Given the description of an element on the screen output the (x, y) to click on. 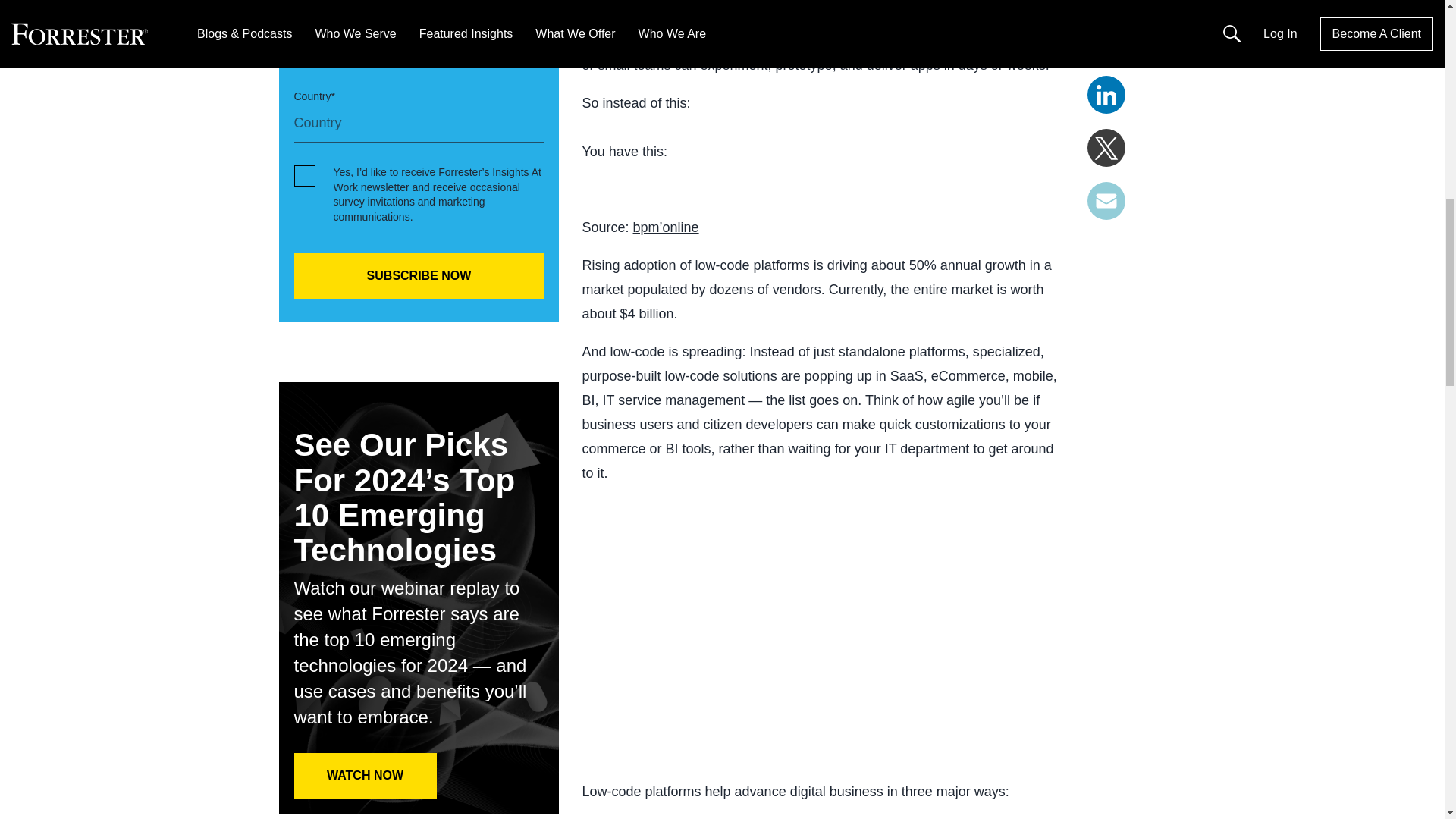
Subscribe Now (419, 275)
